Given the description of an element on the screen output the (x, y) to click on. 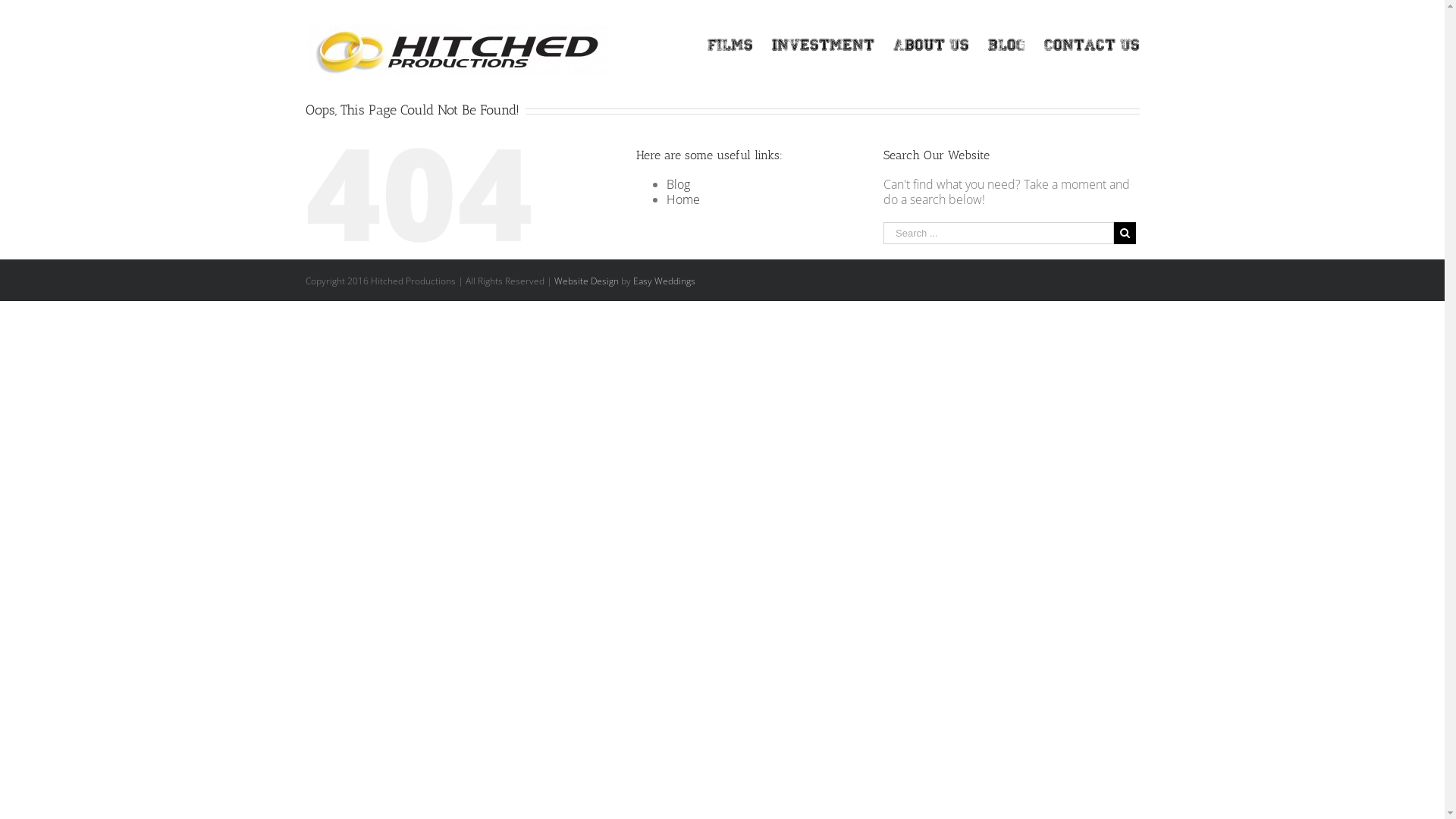
Home Element type: text (682, 199)
Blog Element type: text (678, 183)
Easy Weddings Element type: text (663, 280)
Website Design Element type: text (585, 280)
About Us Element type: text (931, 45)
Contact Us Element type: text (1091, 45)
Blog Element type: text (1005, 45)
Investment Element type: text (822, 45)
Films Element type: text (729, 45)
